Given the description of an element on the screen output the (x, y) to click on. 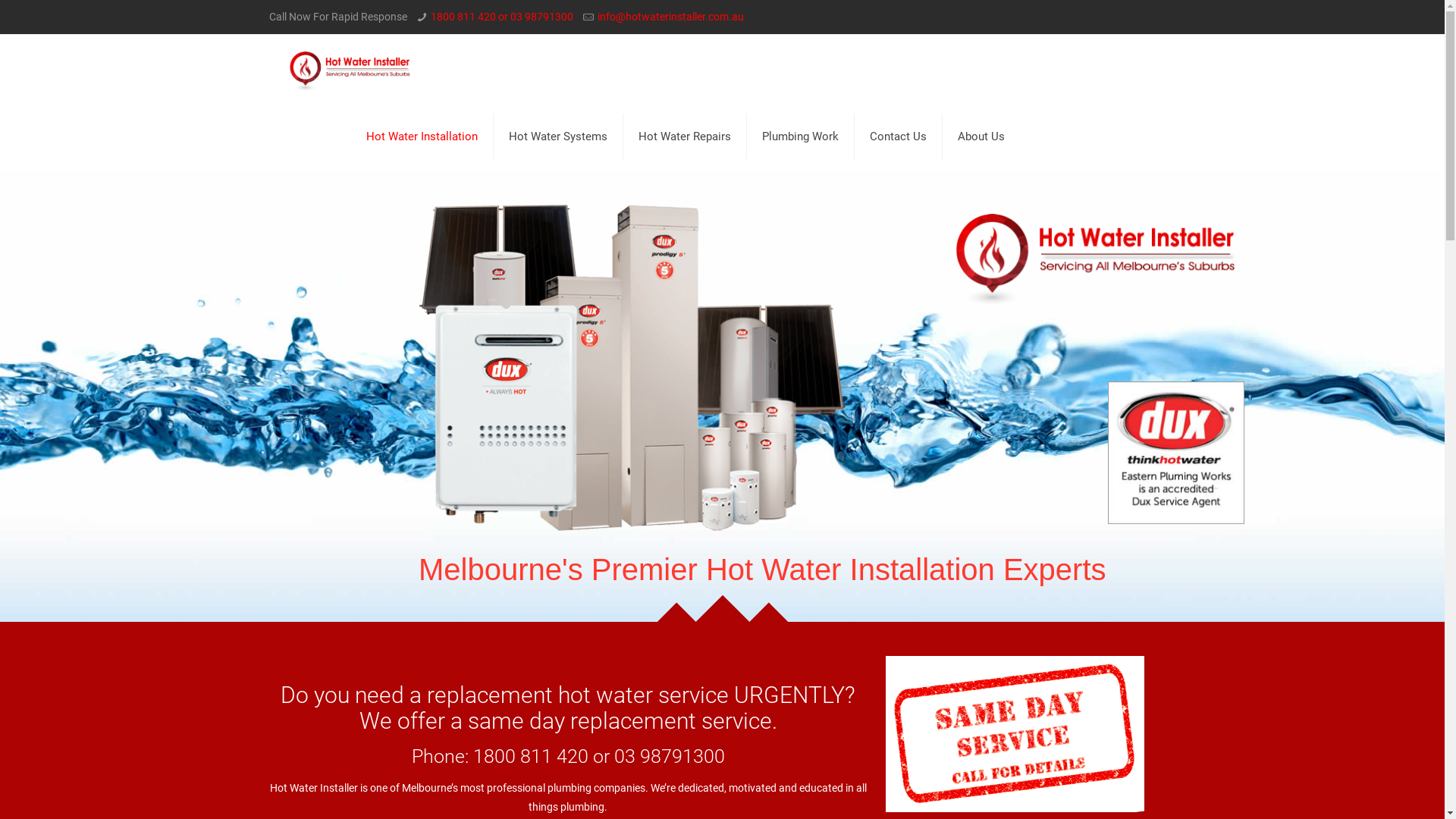
Hot Water Installation Element type: text (422, 136)
Hot Water Repairs Element type: text (684, 136)
About Us Element type: text (980, 136)
Plumbing Work Element type: text (800, 136)
Hot Water Systems Element type: text (558, 136)
info@hotwaterinstaller.com.au Element type: text (670, 16)
Contact Us Element type: text (898, 136)
1800 811 420 or 03 98791300 Element type: text (501, 16)
